Given the description of an element on the screen output the (x, y) to click on. 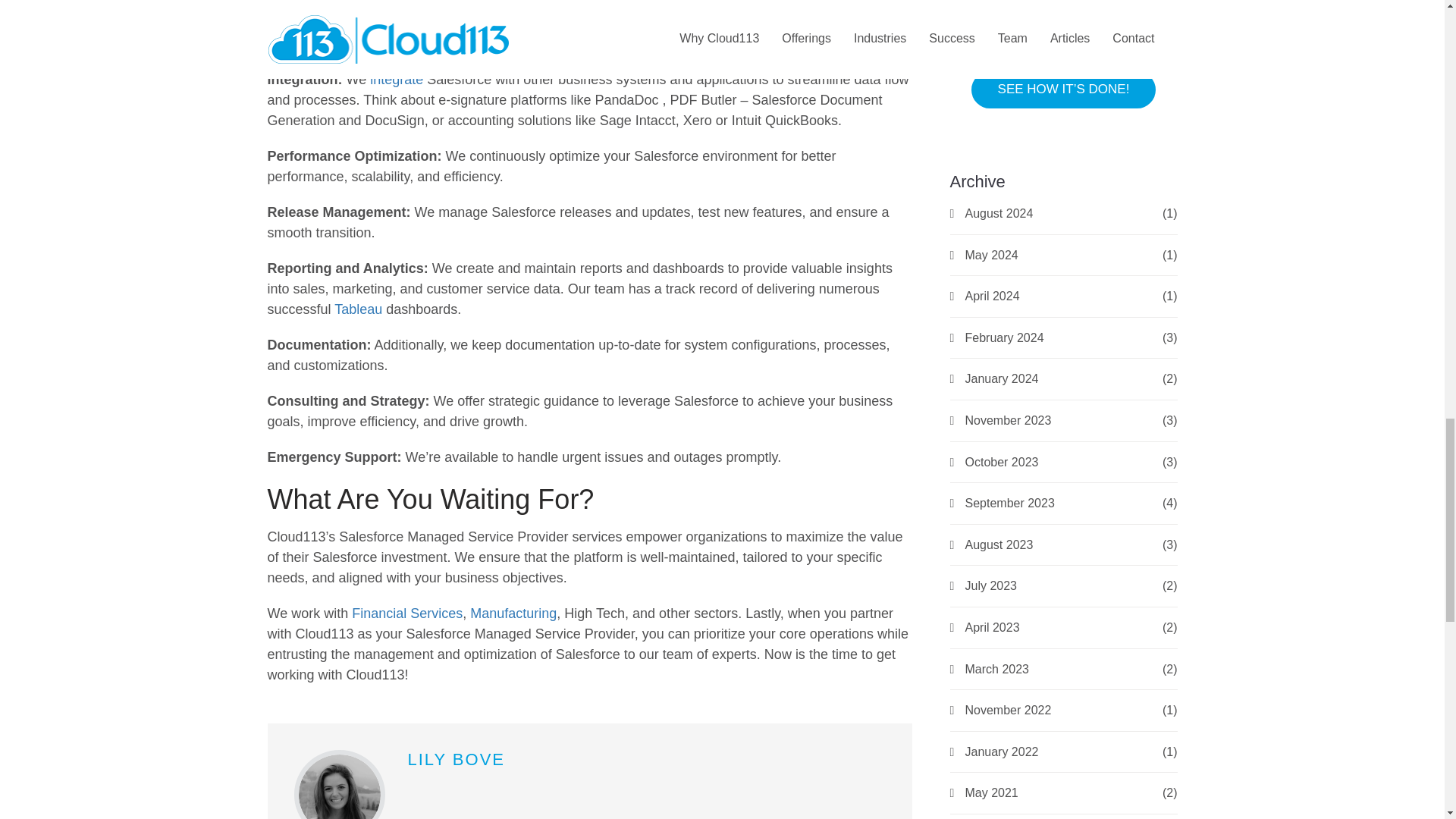
integrate (396, 79)
Manufacturing (513, 613)
Tableau (357, 309)
Financial Services (407, 613)
